Given the description of an element on the screen output the (x, y) to click on. 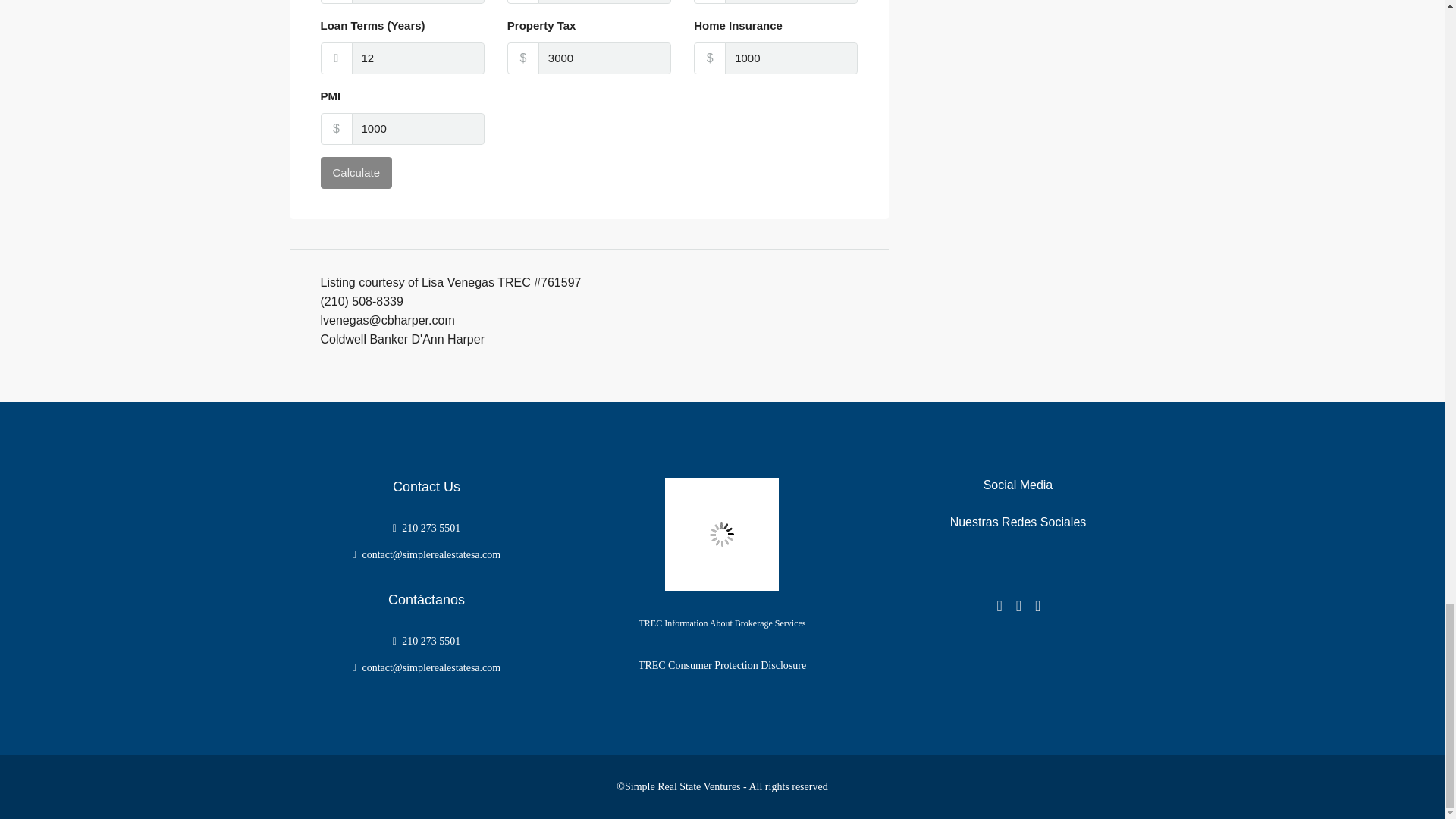
1000 (791, 58)
12 (418, 58)
1000 (418, 128)
3000 (604, 58)
72000 (604, 2)
3.5 (791, 2)
480000 (418, 2)
